Given the description of an element on the screen output the (x, y) to click on. 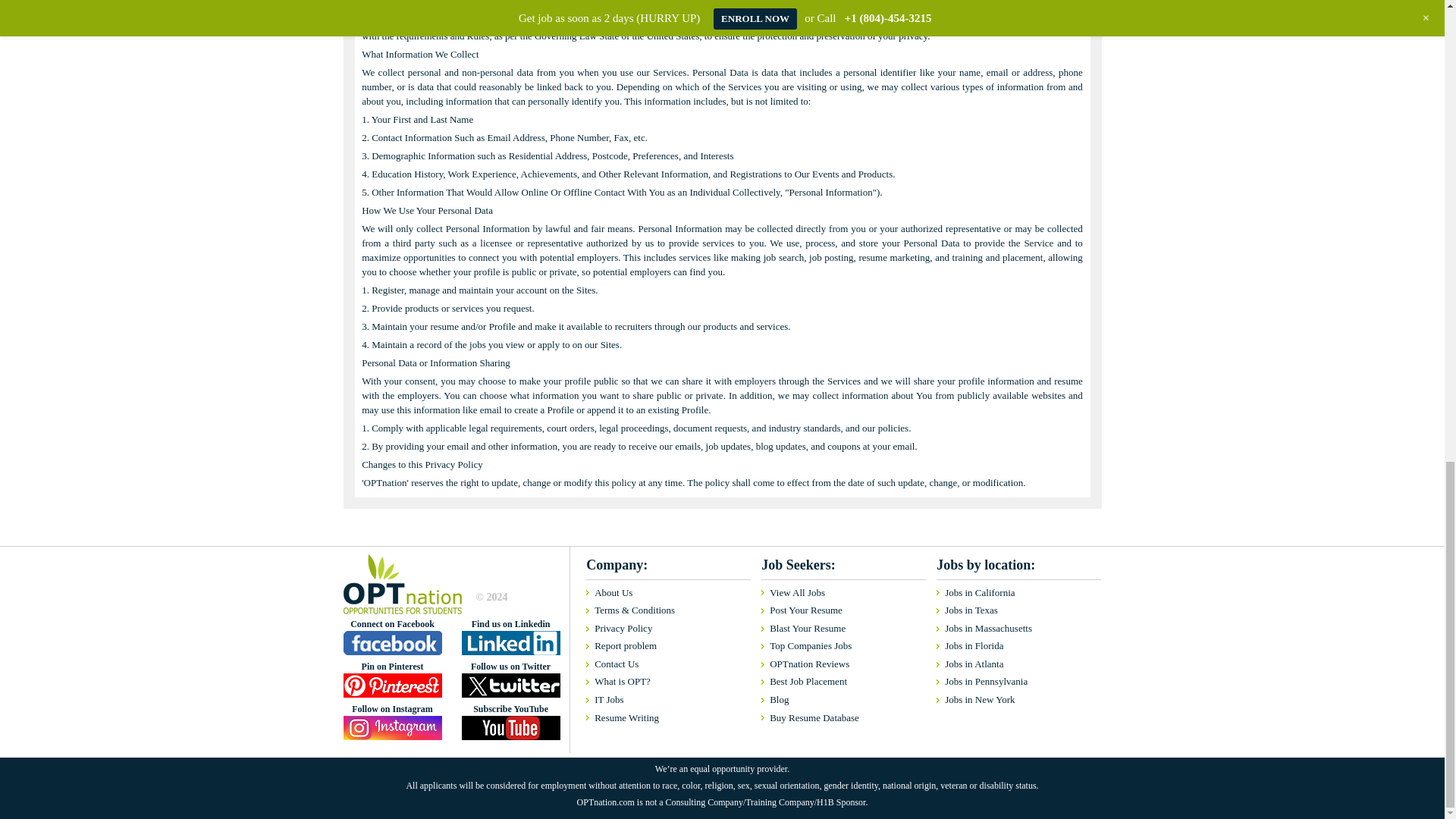
View All Jobs (839, 593)
Jobs in Texas (1014, 610)
Resume Writing (664, 718)
Jobs in New York (1014, 699)
Privacy Policy (664, 628)
Blast Your Resume (839, 628)
Blog (839, 699)
Jobs in Massachusetts (1014, 628)
Post Your Resume (839, 610)
OPTnation Reviews (839, 664)
Jobs in Atlanta (1014, 664)
Report problem (664, 646)
Contact Us (664, 664)
Jobs in California (1014, 593)
Jobs in Florida (1014, 646)
